Given the description of an element on the screen output the (x, y) to click on. 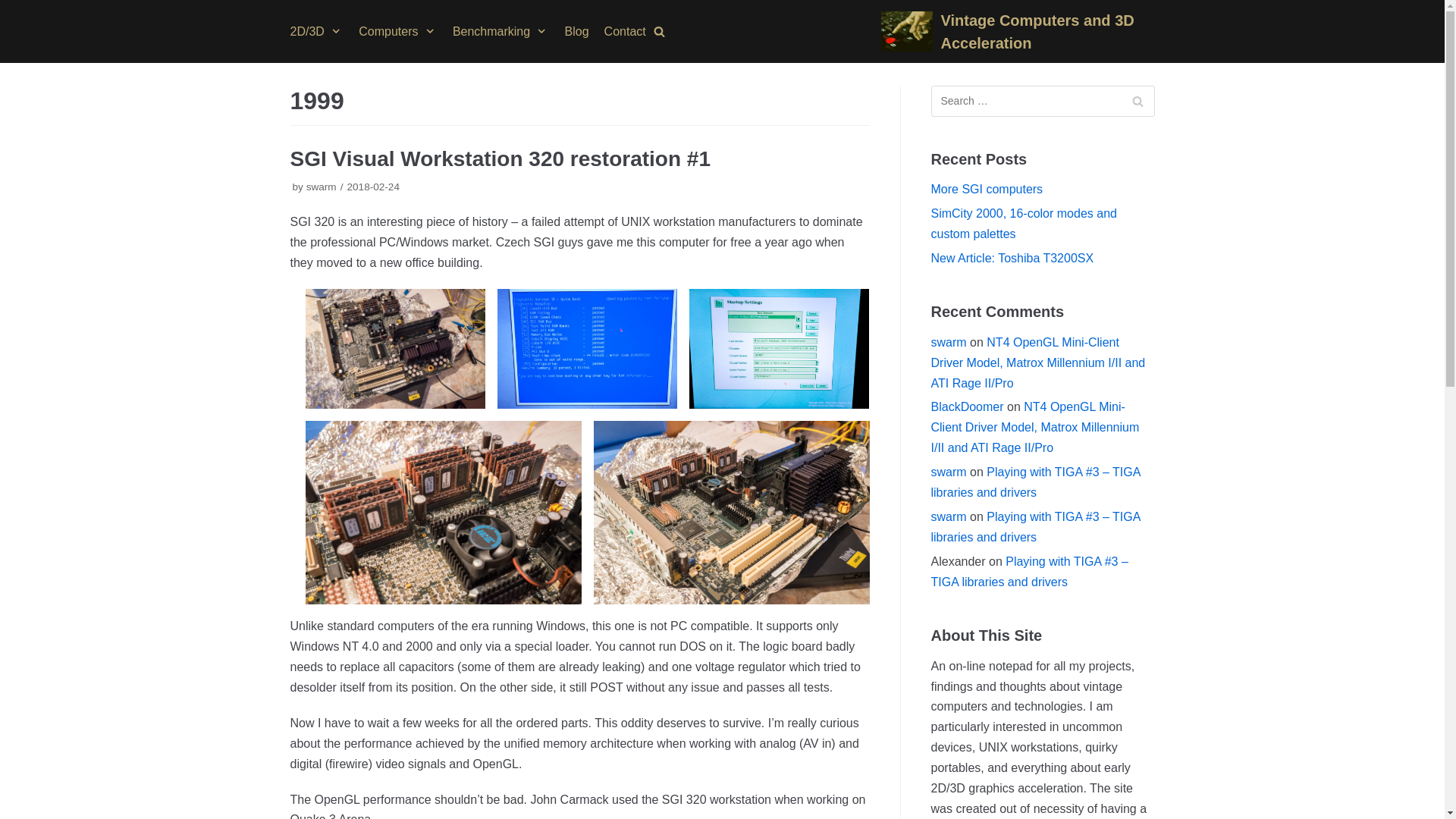
Vintage Computers and 3D Acceleration (1017, 31)
swarm (320, 186)
Benchmarking (501, 31)
Search (1137, 101)
Search (1235, 409)
Vintage Computers and 3D Acceleration (1017, 31)
Blog (576, 31)
Contact (625, 31)
Skip to content (15, 7)
Search (1137, 101)
